Given the description of an element on the screen output the (x, y) to click on. 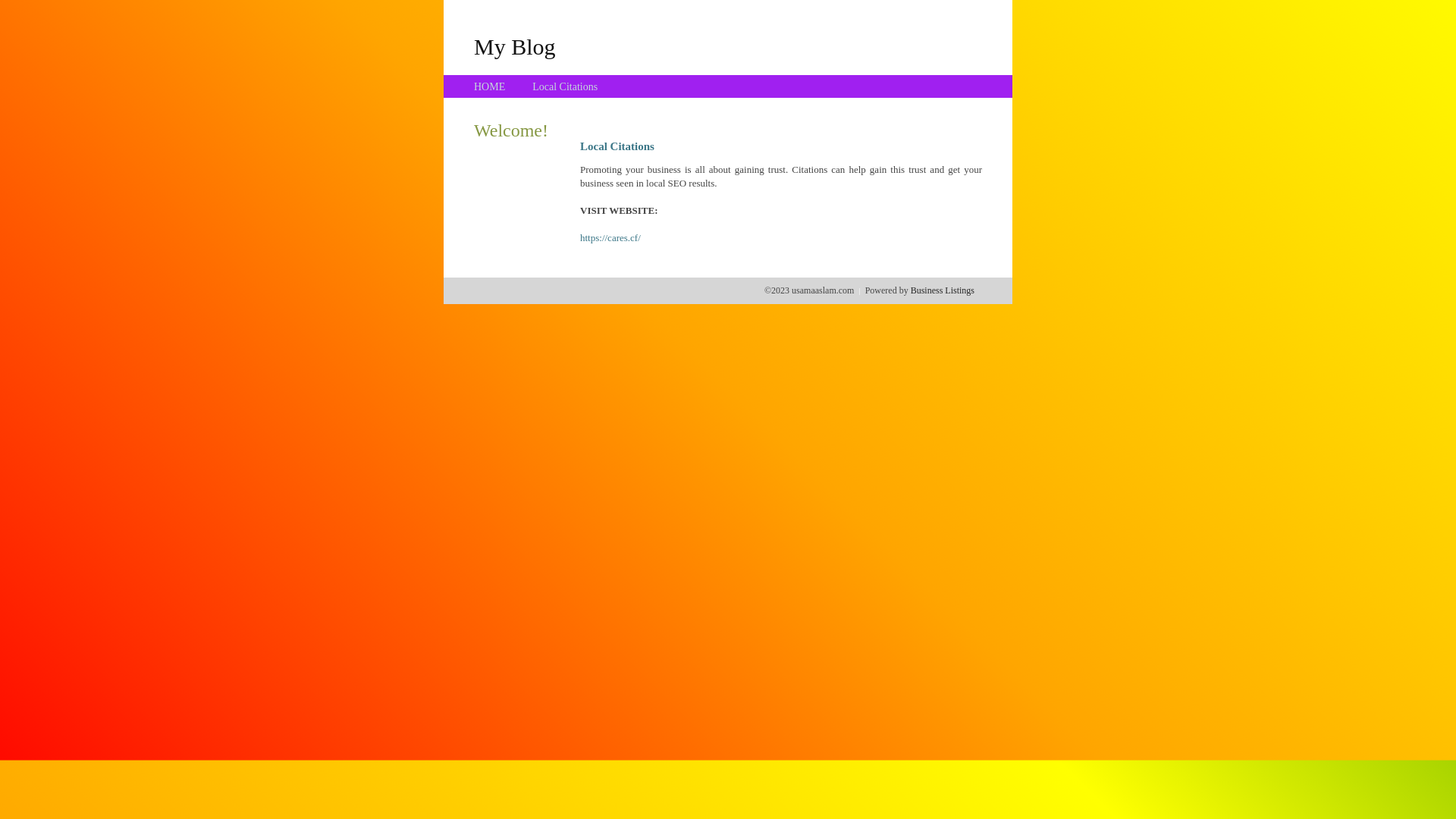
My Blog Element type: text (514, 46)
Local Citations Element type: text (564, 86)
HOME Element type: text (489, 86)
Business Listings Element type: text (942, 290)
https://cares.cf/ Element type: text (610, 237)
